Given the description of an element on the screen output the (x, y) to click on. 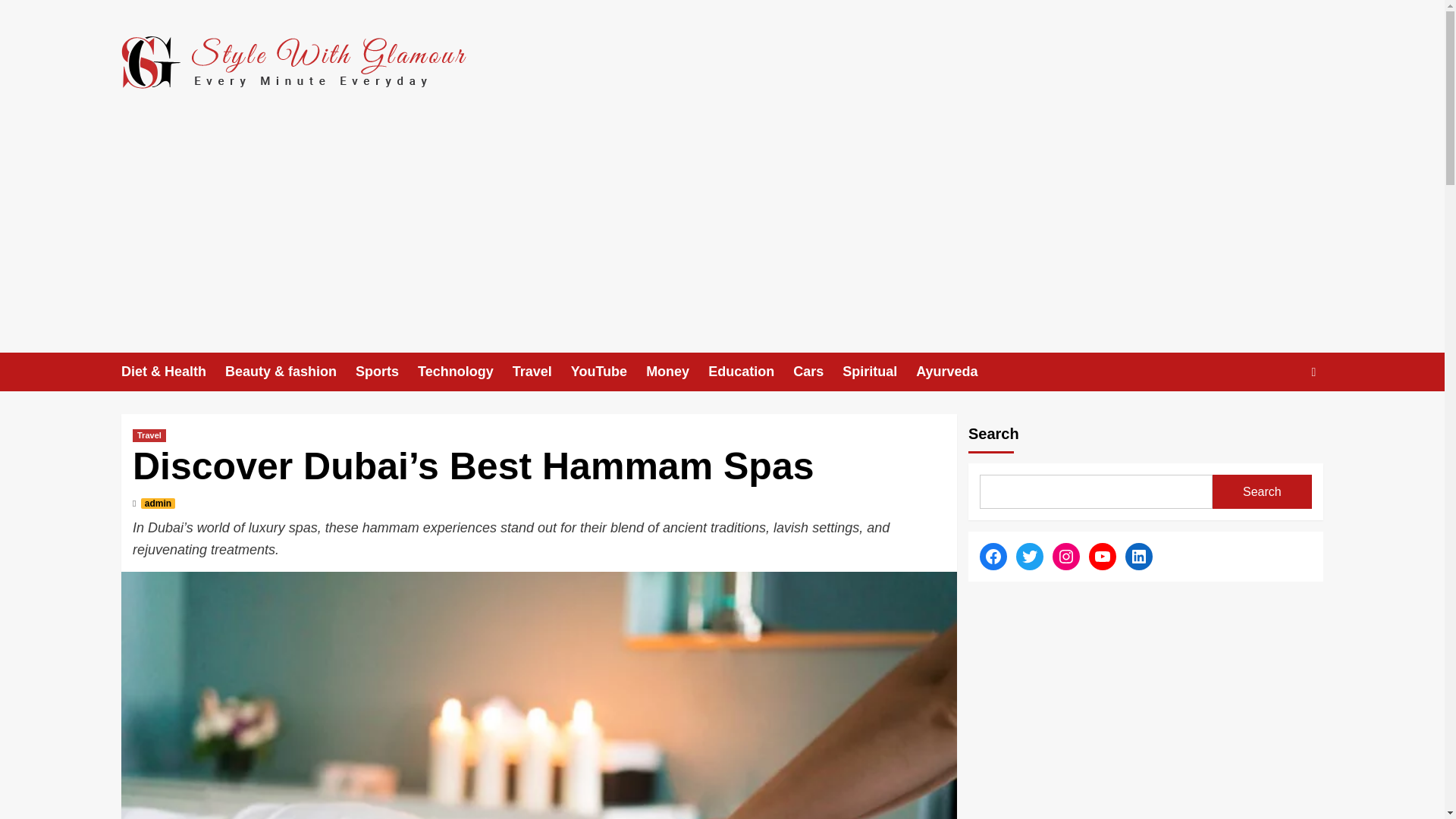
Money (676, 371)
Technology (464, 371)
Search (1278, 418)
Travel (541, 371)
Travel (148, 435)
Sports (386, 371)
Education (750, 371)
Ayurveda (955, 371)
Cars (818, 371)
